Given the description of an element on the screen output the (x, y) to click on. 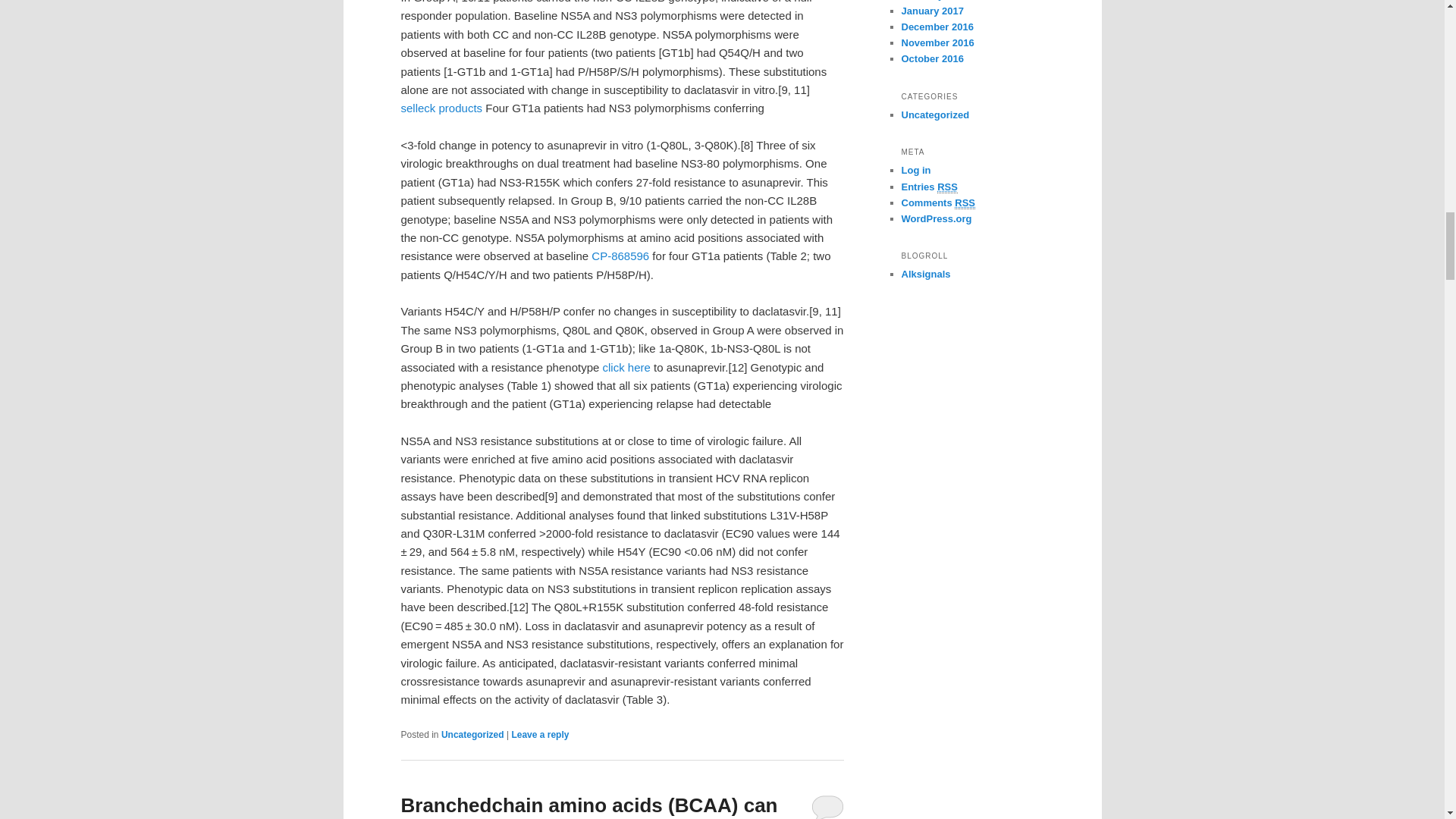
CP-868596 (620, 255)
selleck products (440, 107)
Uncategorized (472, 734)
Leave a reply (540, 734)
click here (625, 367)
